Given the description of an element on the screen output the (x, y) to click on. 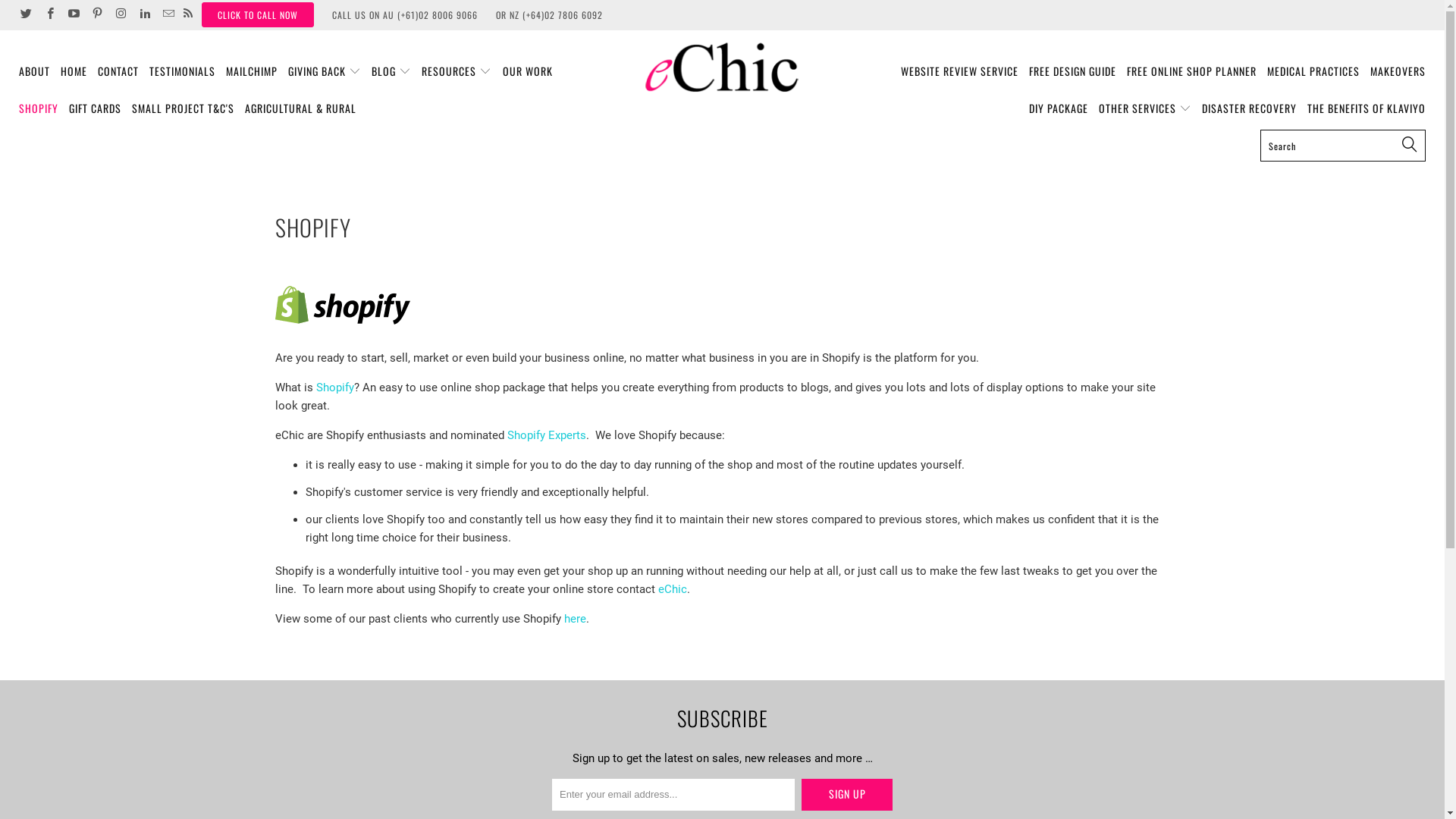
eChic technology for small business  on RSS Element type: hover (187, 14)
eChic technology for small business  Element type: hover (721, 67)
OR NZ (+64)02 7806 6092 Element type: text (548, 15)
AGRICULTURAL & RURAL Element type: text (300, 108)
Shopify Element type: text (334, 387)
eChic technology for small business  on Pinterest Element type: hover (96, 14)
TESTIMONIALS Element type: text (182, 71)
SMALL PROJECT T&C'S Element type: text (182, 108)
eChic technology for small business  on Facebook Element type: hover (48, 14)
FREE DESIGN GUIDE Element type: text (1072, 71)
DIY PACKAGE Element type: text (1058, 108)
DISASTER RECOVERY Element type: text (1248, 108)
CLICK TO CALL NOW Element type: text (257, 15)
OTHER SERVICES Element type: text (1144, 108)
CALL US ON AU (+61)02 8006 9066 Element type: text (404, 15)
MAKEOVERS Element type: text (1397, 71)
ABOUT Element type: text (34, 71)
RESOURCES Element type: text (456, 71)
CONTACT Element type: text (117, 71)
here Element type: text (575, 618)
Email eChic technology for small business  Element type: hover (166, 14)
HOME Element type: text (73, 71)
MEDICAL PRACTICES Element type: text (1313, 71)
THE BENEFITS OF KLAVIYO Element type: text (1366, 108)
Shopify Experts Element type: text (545, 435)
eChic technology for small business  on Twitter Element type: hover (24, 14)
eChic technology for small business  on LinkedIn Element type: hover (143, 14)
eChic technology for small business  on YouTube Element type: hover (72, 14)
GIVING BACK Element type: text (324, 71)
SHOPIFY Element type: text (38, 108)
GIFT CARDS Element type: text (95, 108)
WEBSITE REVIEW SERVICE Element type: text (959, 71)
eChic Element type: text (672, 589)
OUR WORK Element type: text (527, 71)
MAILCHIMP Element type: text (251, 71)
Sign Up Element type: text (846, 794)
eChic technology for small business  on Instagram Element type: hover (119, 14)
BLOG Element type: text (391, 71)
FREE ONLINE SHOP PLANNER Element type: text (1191, 71)
